Given the description of an element on the screen output the (x, y) to click on. 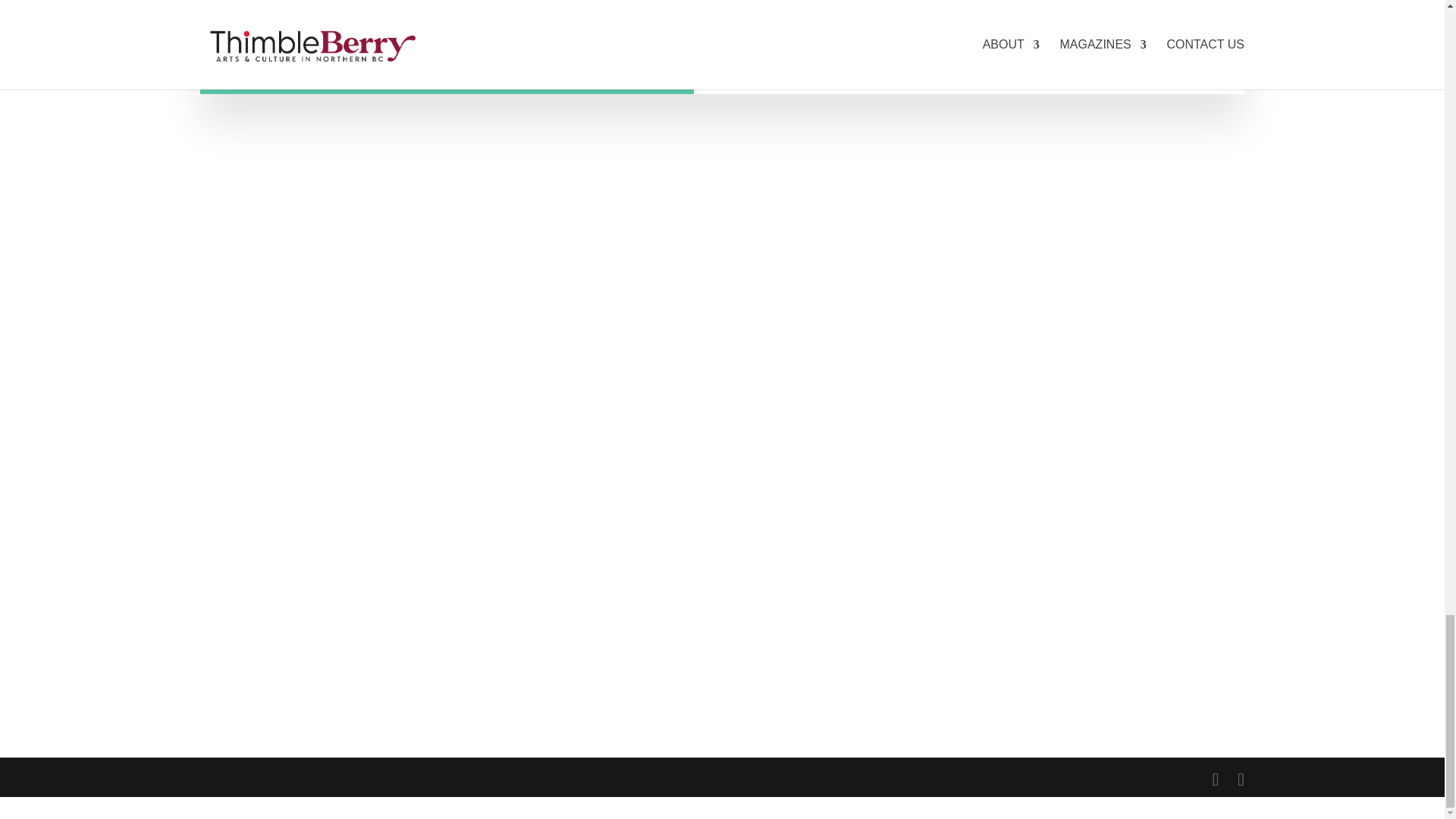
CLICK HERE (848, 39)
